Given the description of an element on the screen output the (x, y) to click on. 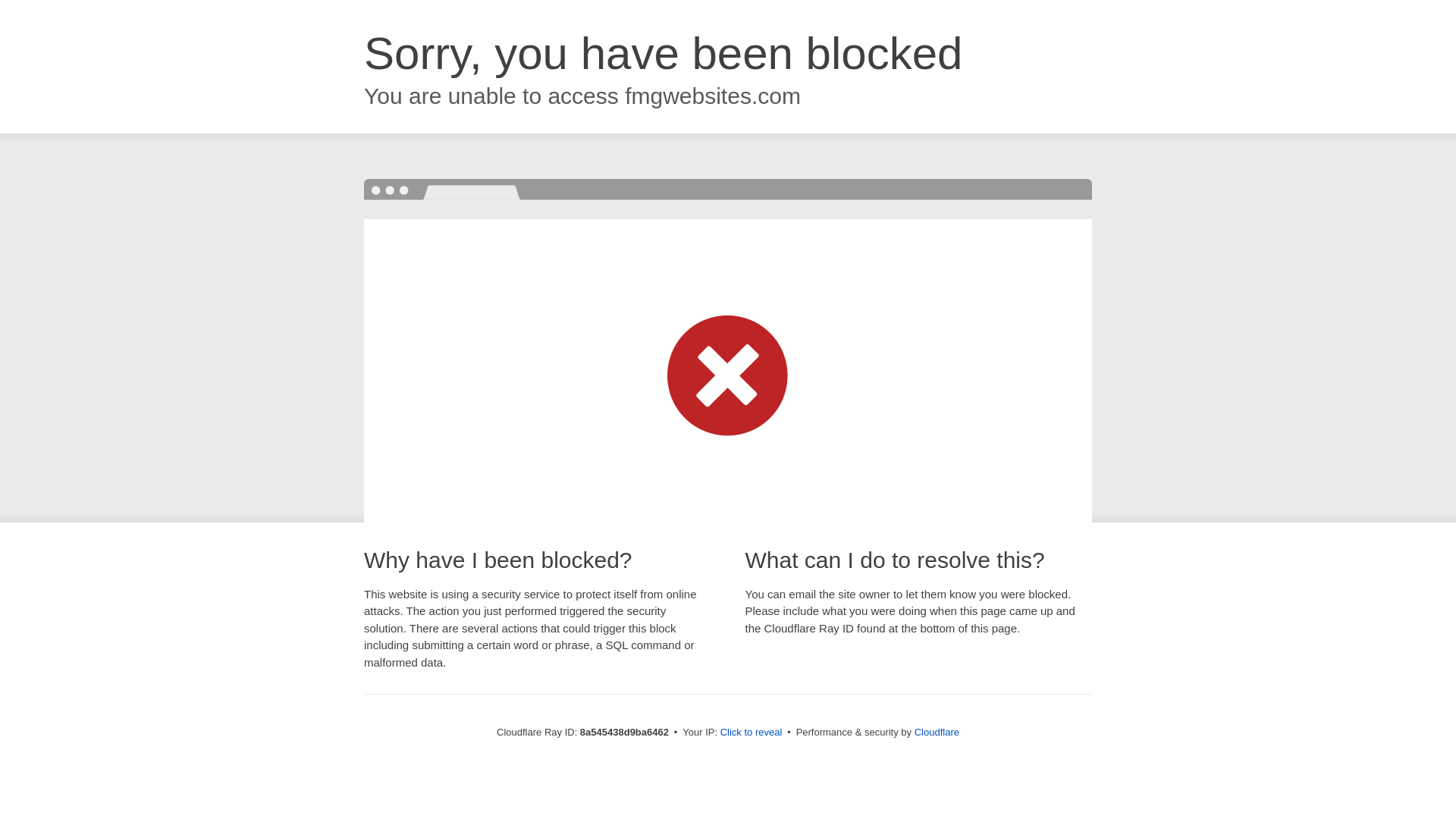
Cloudflare (936, 731)
Click to reveal (751, 732)
